Given the description of an element on the screen output the (x, y) to click on. 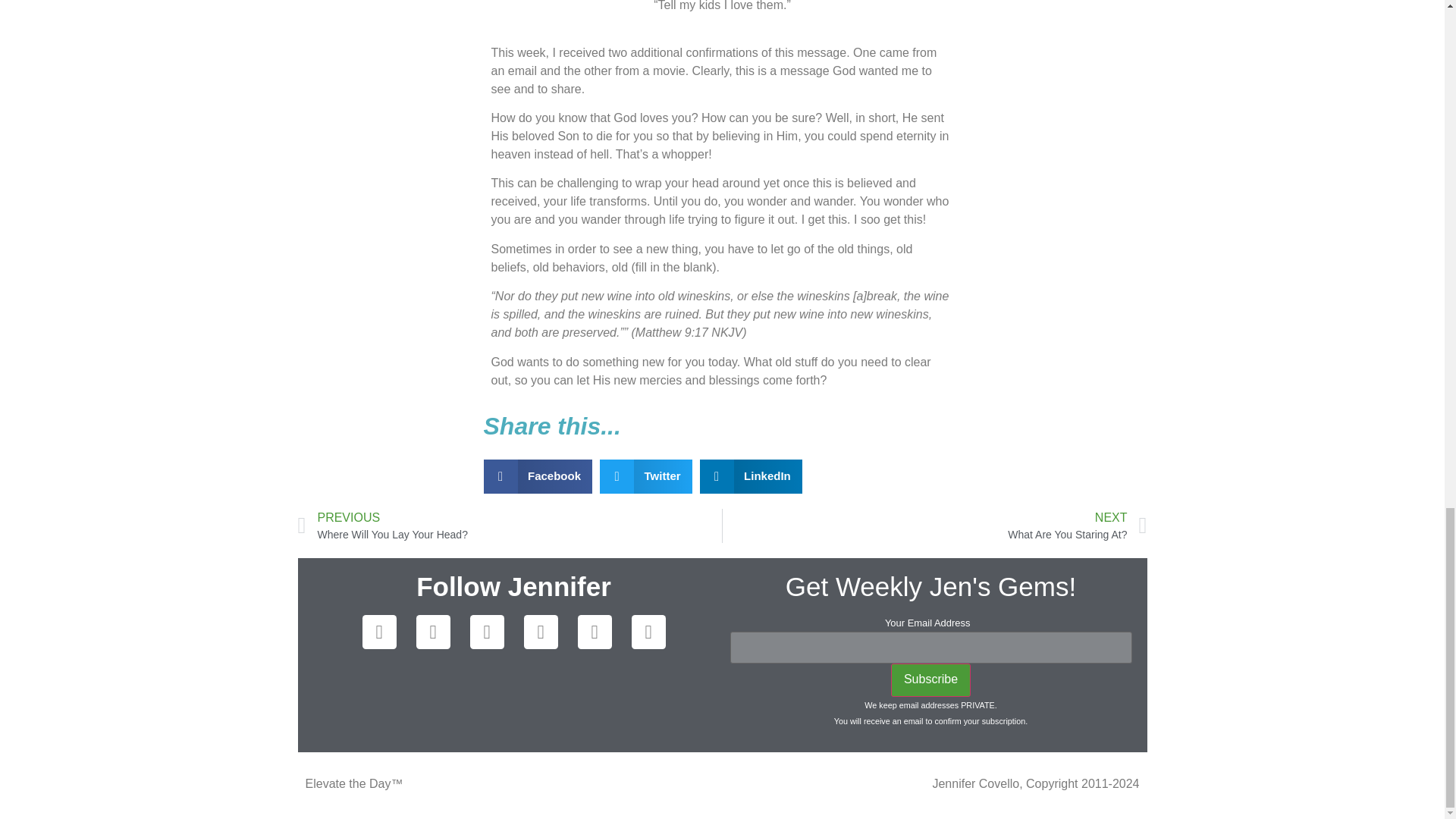
Subscribe (931, 679)
